Given the description of an element on the screen output the (x, y) to click on. 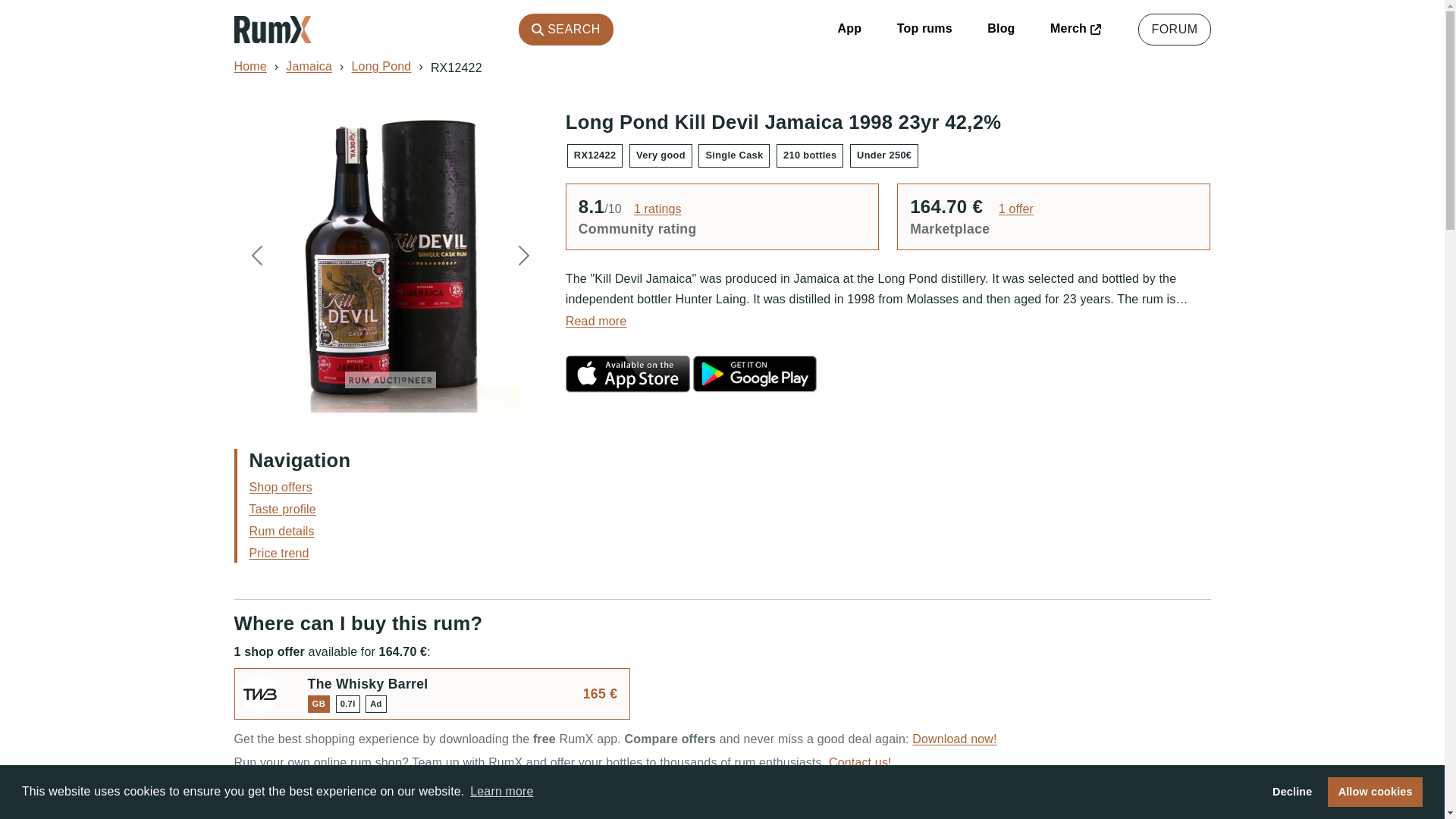
Top rums (924, 28)
Very good (660, 154)
Merch (1074, 28)
Merch (1074, 28)
Contact us! (859, 762)
Learn more (501, 791)
Download now! (953, 738)
Price trend (278, 553)
App (849, 28)
Top rums (924, 28)
Long Pond (382, 65)
Home (249, 65)
Next (523, 254)
Taste profile (281, 508)
